Given the description of an element on the screen output the (x, y) to click on. 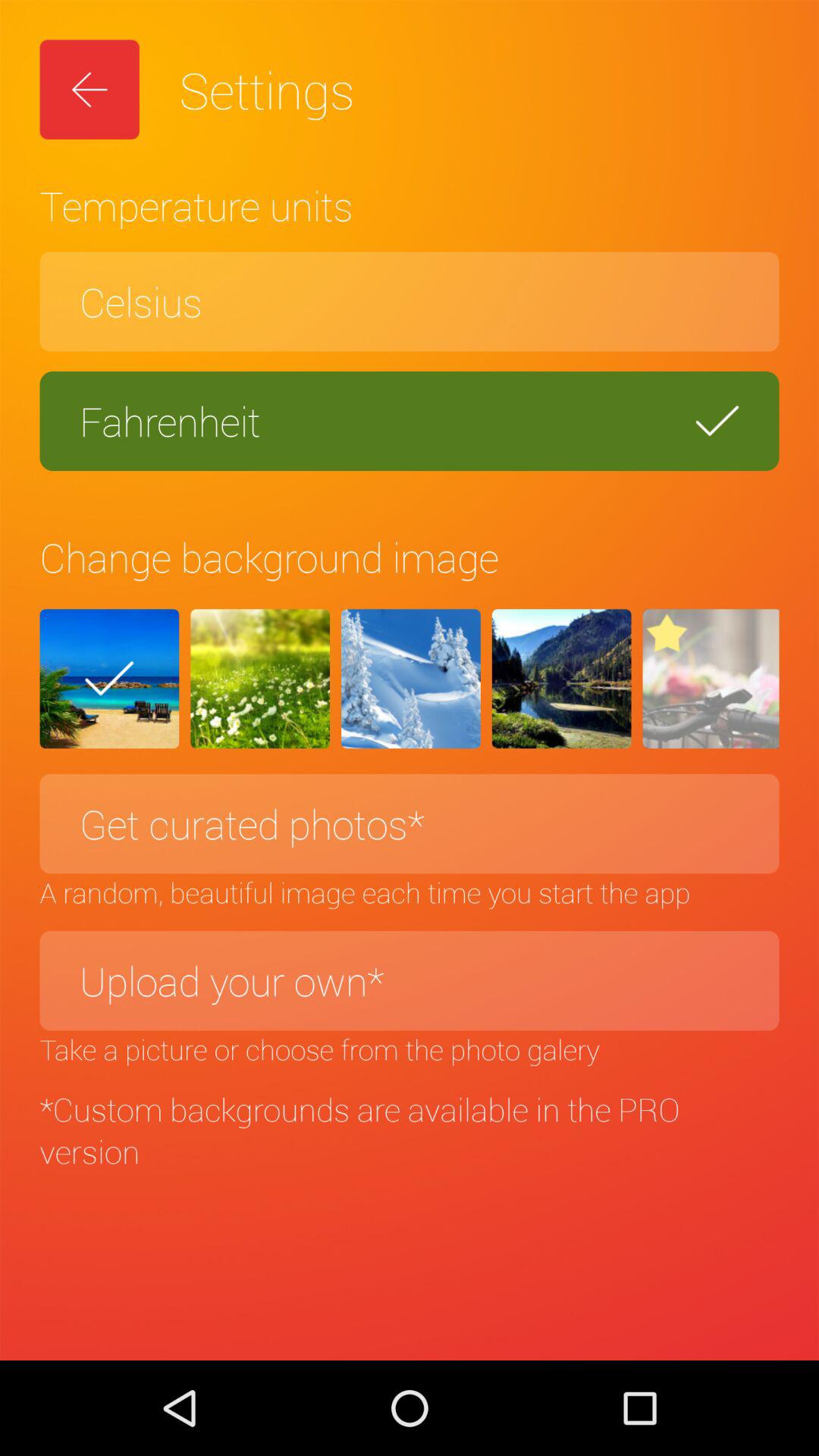
turn off the fahrenheit icon (409, 420)
